Given the description of an element on the screen output the (x, y) to click on. 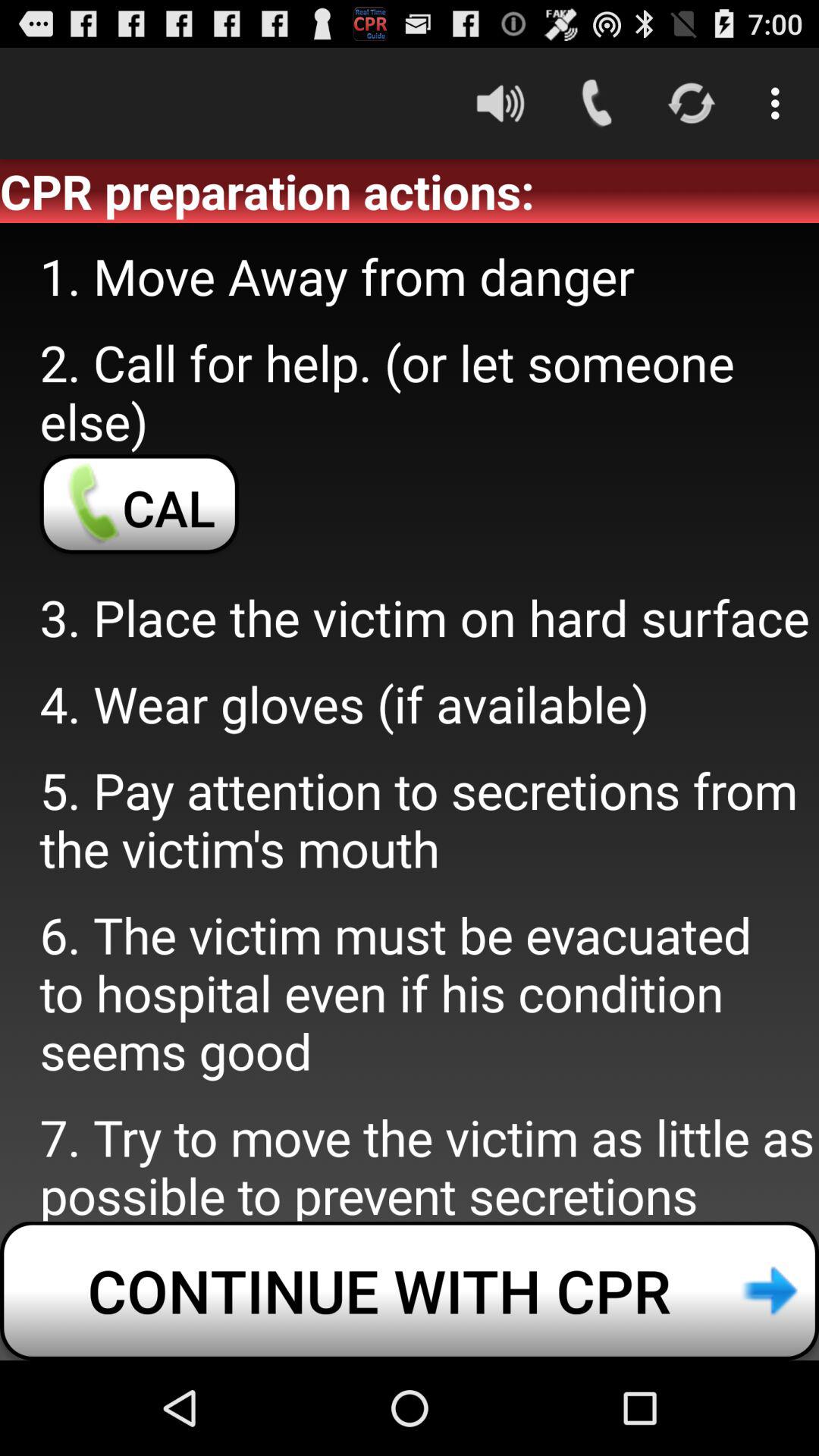
swipe to continue with cpr item (409, 1290)
